Given the description of an element on the screen output the (x, y) to click on. 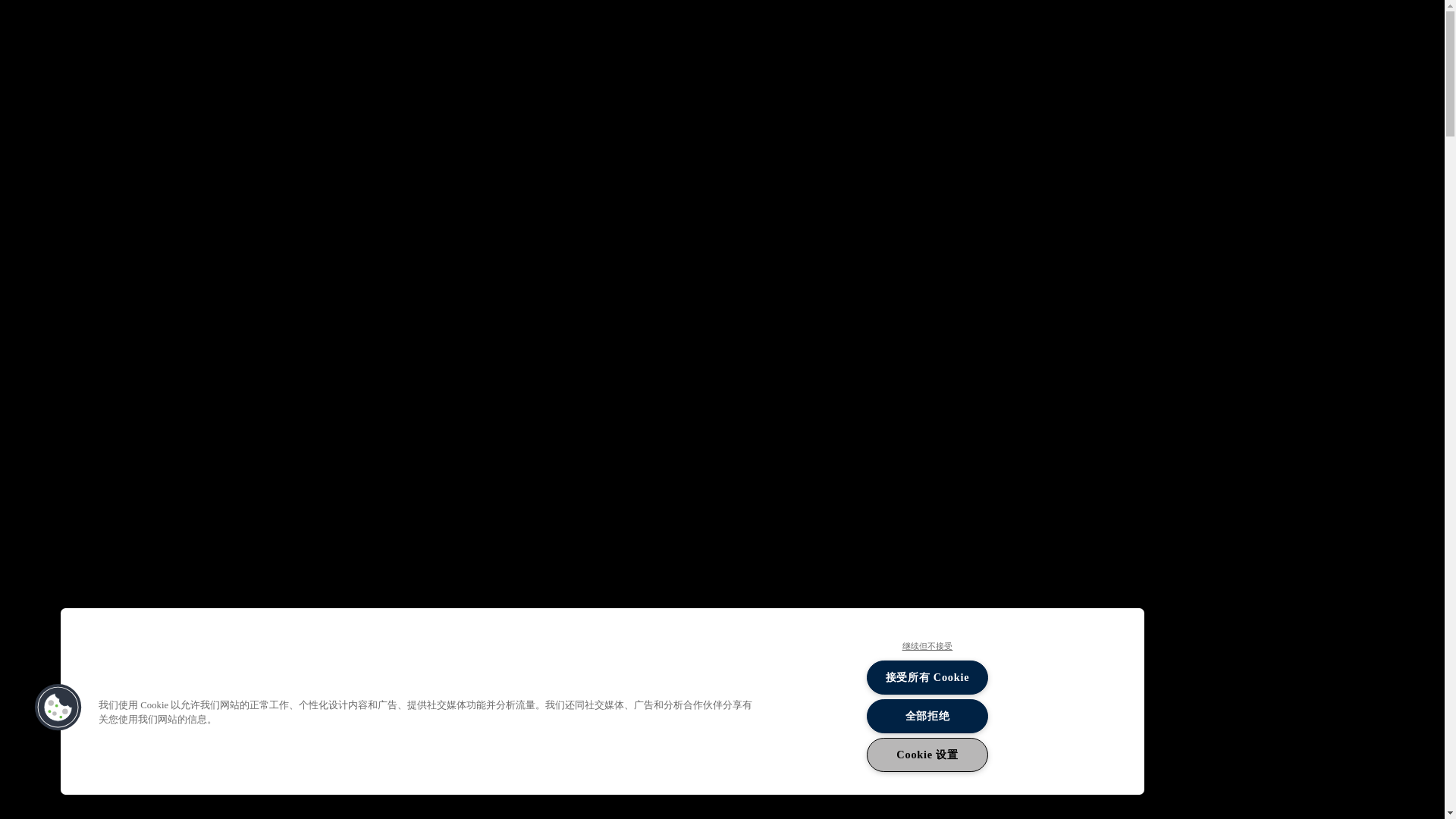
Share on LinkedIn (224, 368)
Login (1294, 26)
Cookies Button (57, 707)
Newsletter (1148, 23)
LOGIN (1294, 26)
Share on Facebook (224, 258)
Share on Twitter (224, 313)
NEWSLETTER (1148, 23)
